Given the description of an element on the screen output the (x, y) to click on. 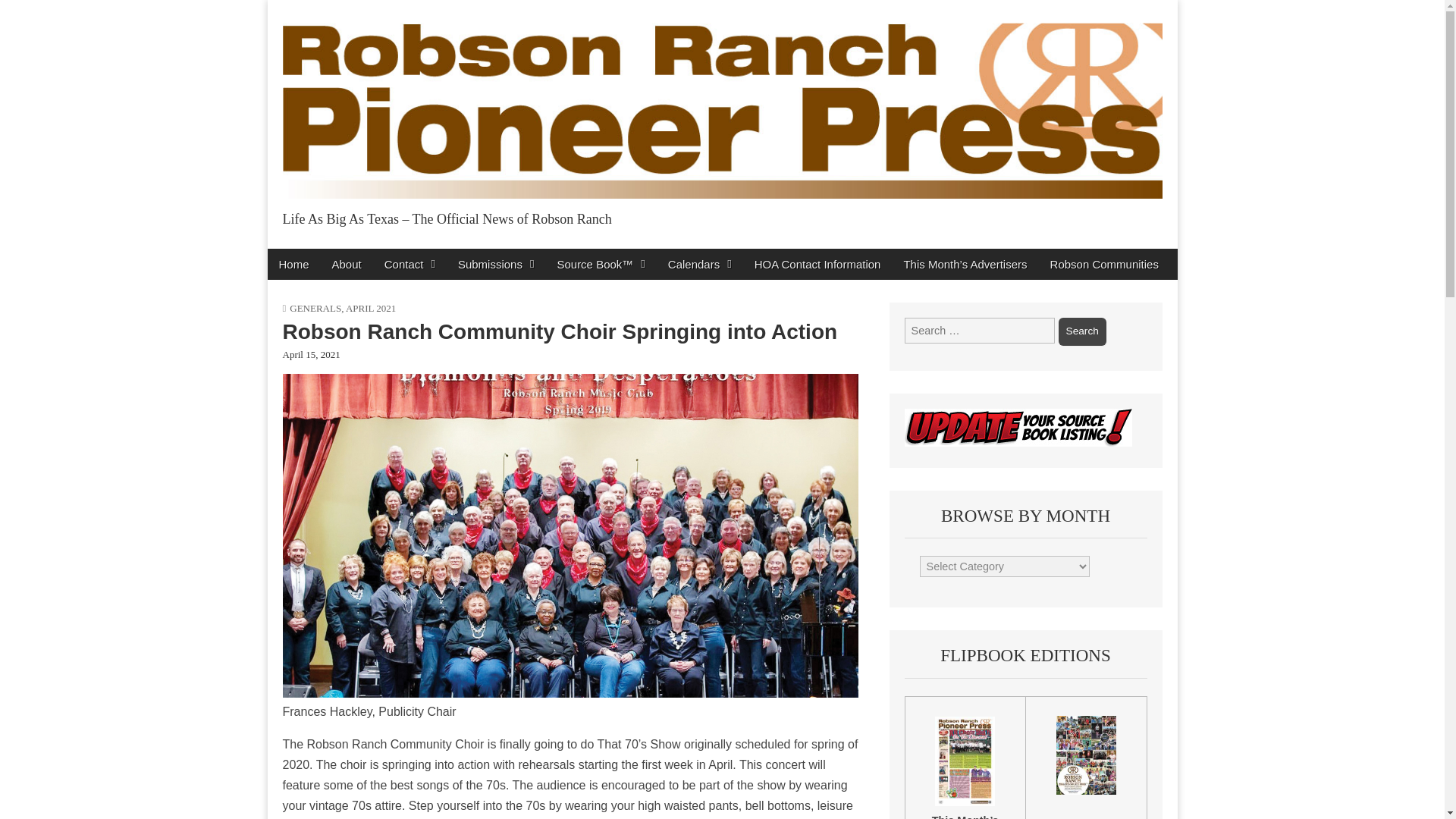
Submissions (496, 264)
Robson Ranch Pioneer Press (491, 252)
Robson Ranch Pioneer Press (491, 252)
Robson Communities (1104, 264)
Contact (409, 264)
HOA Contact Information (817, 264)
GENERALS (314, 307)
About (346, 264)
Search (1082, 330)
